Given the description of an element on the screen output the (x, y) to click on. 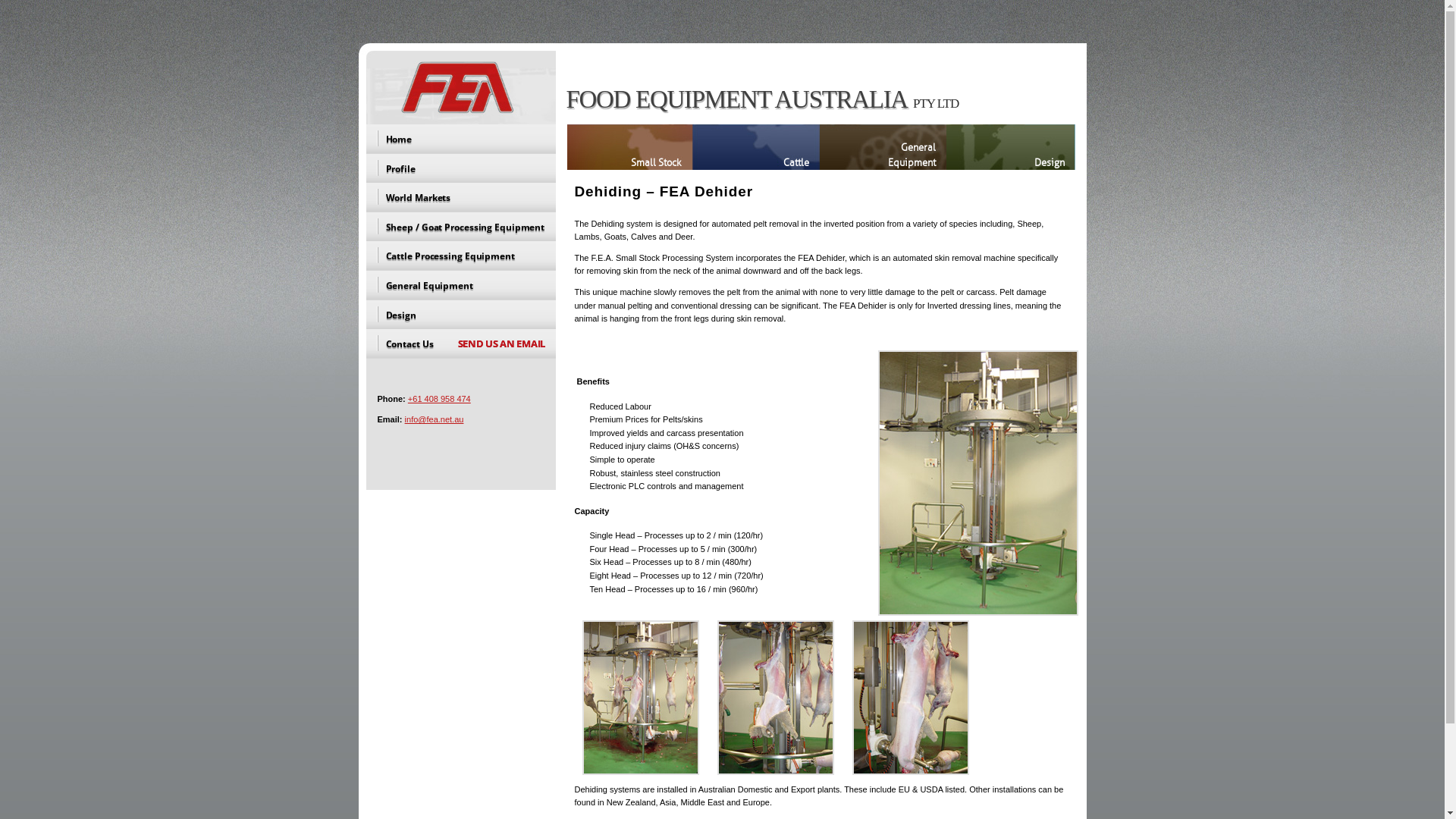
Profile Element type: text (460, 168)
Home Element type: text (460, 138)
info@fea.net.au Element type: text (434, 418)
Sheep / Goat Processing Equipment Element type: text (460, 226)
Contact Us
SEND US AN EMAIL Element type: text (460, 343)
General Equipment Element type: text (882, 146)
Design Element type: text (1010, 146)
World Markets Element type: text (460, 197)
+61 408 958 474 Element type: text (438, 398)
Design Element type: text (460, 314)
General Equipment Element type: text (460, 285)
Cattle Element type: text (755, 146)
Small Stock Element type: text (629, 146)
Cattle Processing Equipment Element type: text (460, 255)
